Given the description of an element on the screen output the (x, y) to click on. 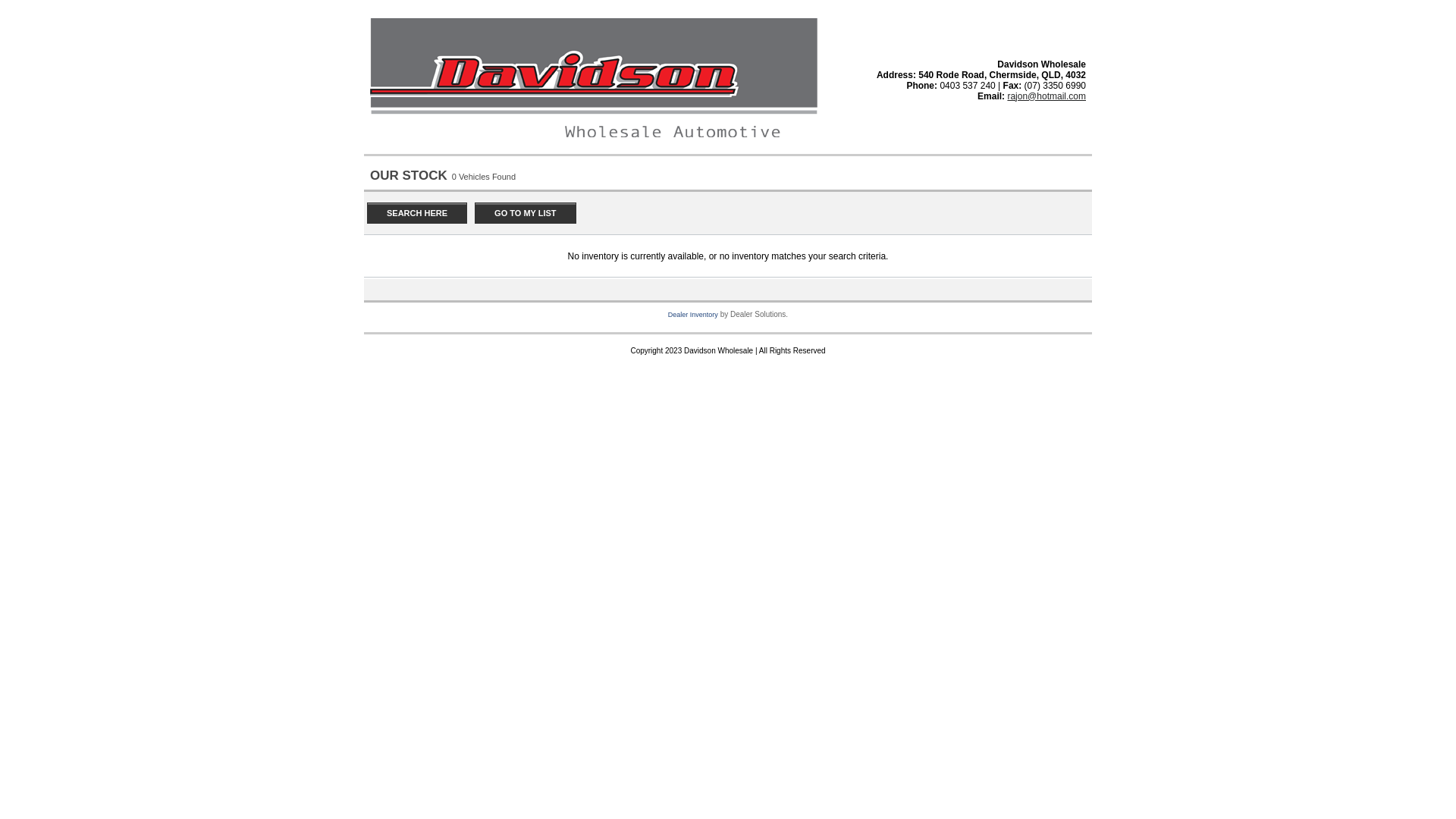
SEARCH HERE Element type: text (417, 212)
rajon@hotmail.com Element type: text (1046, 96)
Davidson Wholesale - 540 Rode Road, Chermside, QLD, 4032. Element type: hover (593, 138)
Dealer Inventory Element type: text (693, 314)
GO TO MY LIST Element type: text (525, 212)
